Given the description of an element on the screen output the (x, y) to click on. 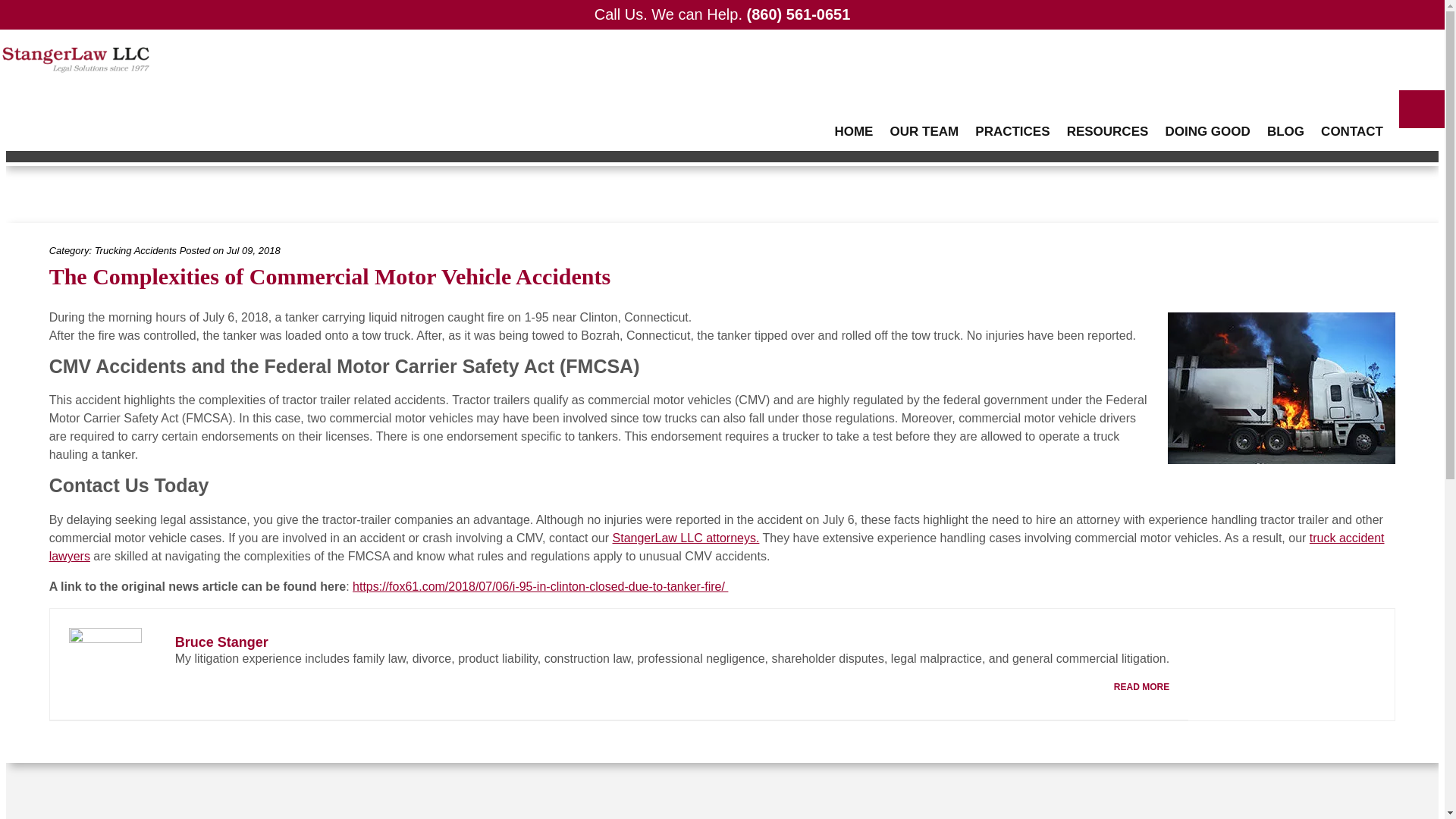
Call (722, 13)
READ MORE (1141, 686)
BLOG (1286, 116)
RESOURCES (1107, 116)
PRACTICES (1012, 116)
CONTACT (1352, 116)
DOING GOOD (1207, 116)
Bruce Stanger (220, 642)
Home (1152, 141)
HOME (852, 116)
